Given the description of an element on the screen output the (x, y) to click on. 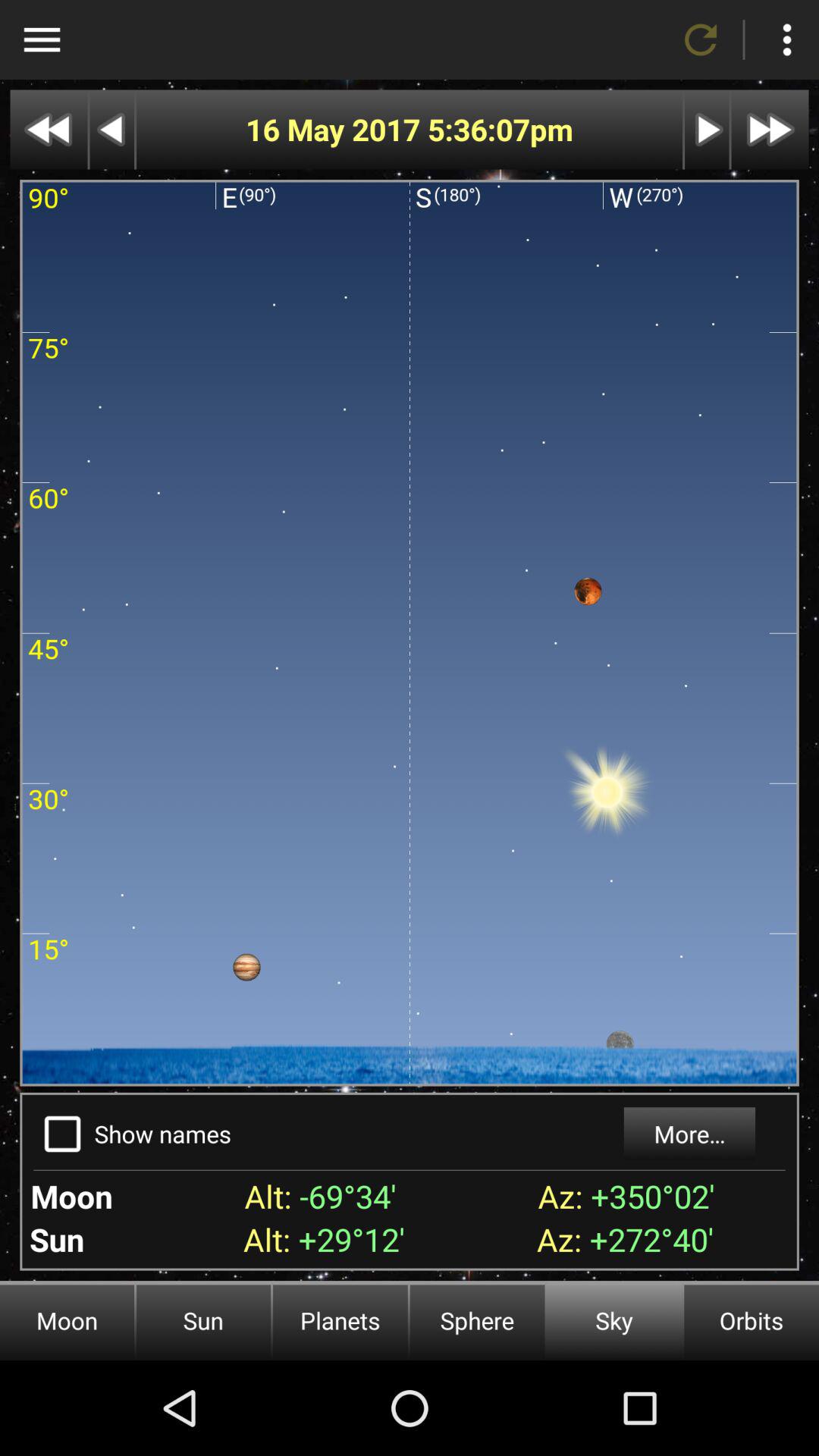
open more actions (787, 39)
